Given the description of an element on the screen output the (x, y) to click on. 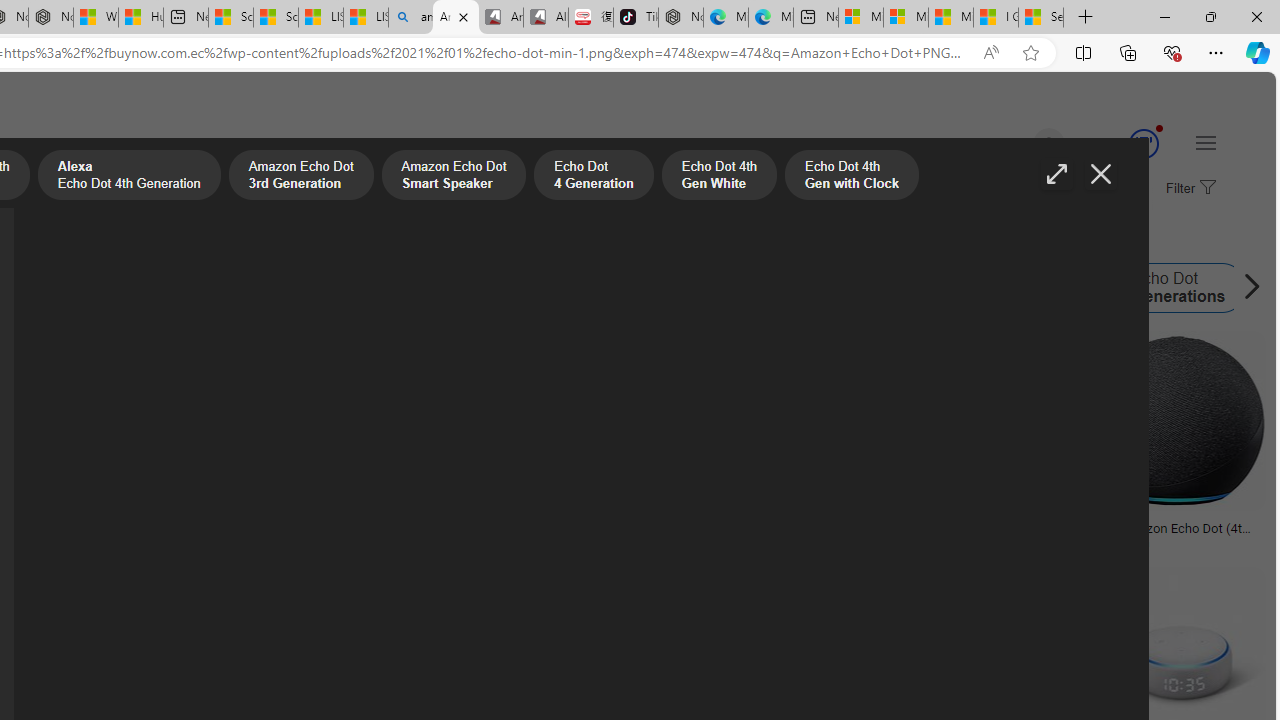
pnghq.com (49, 541)
Alexa Echo Png Pic Png Arts Images (342, 528)
pixabay.com (776, 542)
Amazon Echo Plus (587, 287)
